Given the description of an element on the screen output the (x, y) to click on. 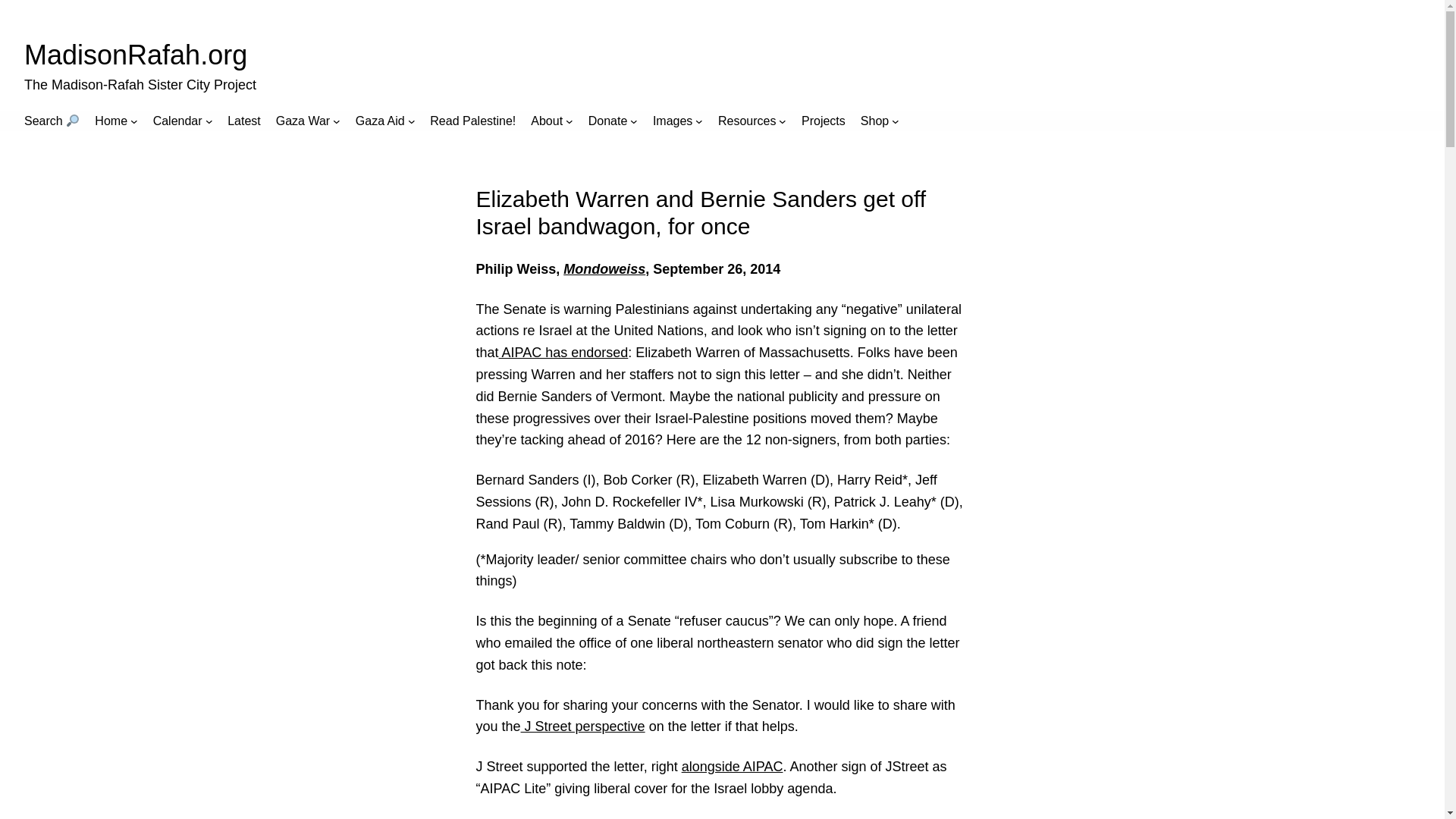
Calendar (177, 121)
Gaza War (303, 121)
Search (52, 121)
Home (111, 121)
Gaza Aid (379, 121)
Latest (243, 121)
